Given the description of an element on the screen output the (x, y) to click on. 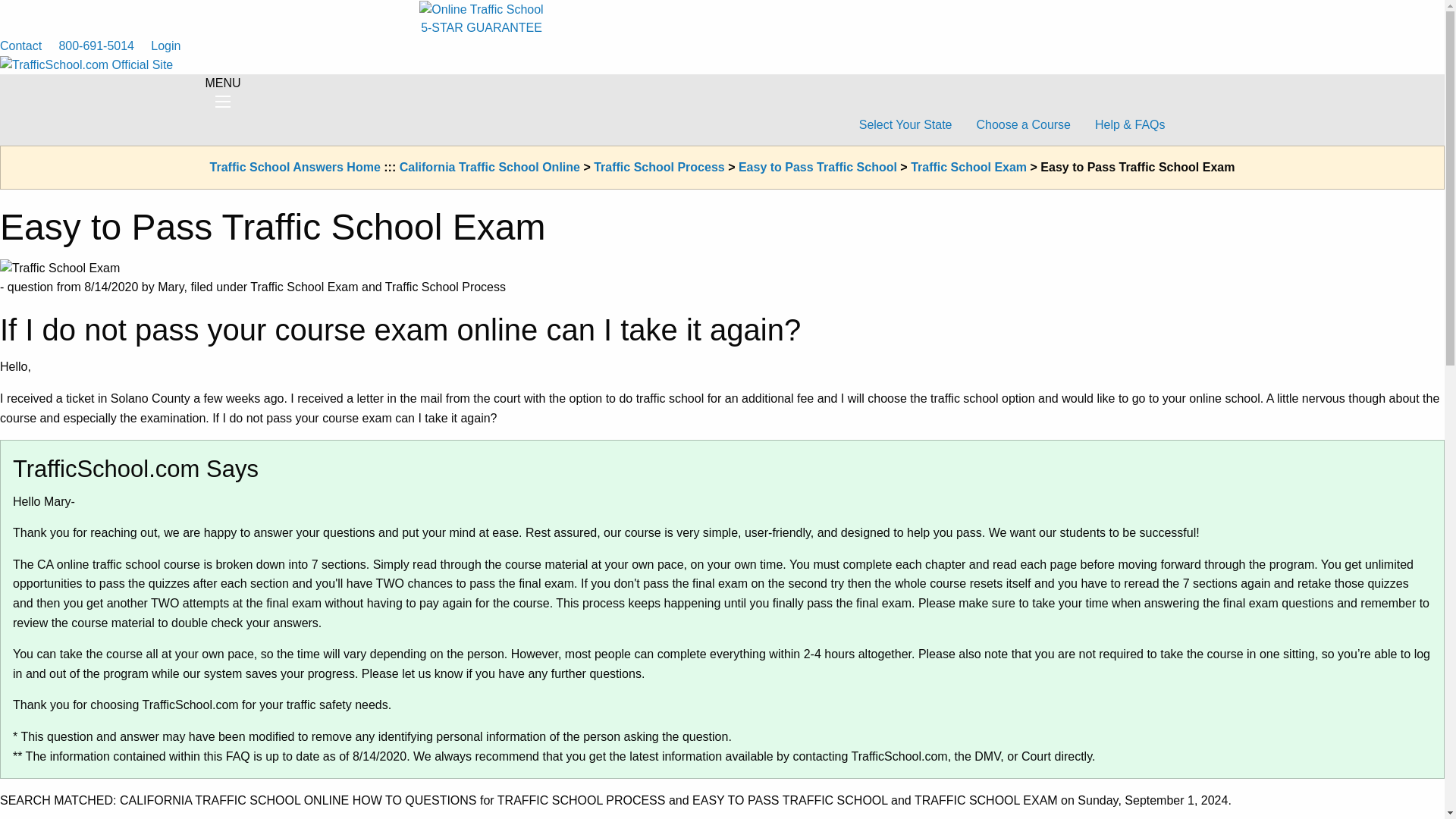
California Traffic School Online (488, 166)
800-691-5014 (97, 45)
Traffic School Exam (968, 166)
Easy to Pass Traffic School (817, 166)
Select Your State (905, 124)
Traffic School Exam (968, 166)
Select Your State (905, 124)
Call Traffic School (97, 45)
Login (165, 45)
California Traffic School Online (488, 166)
